Given the description of an element on the screen output the (x, y) to click on. 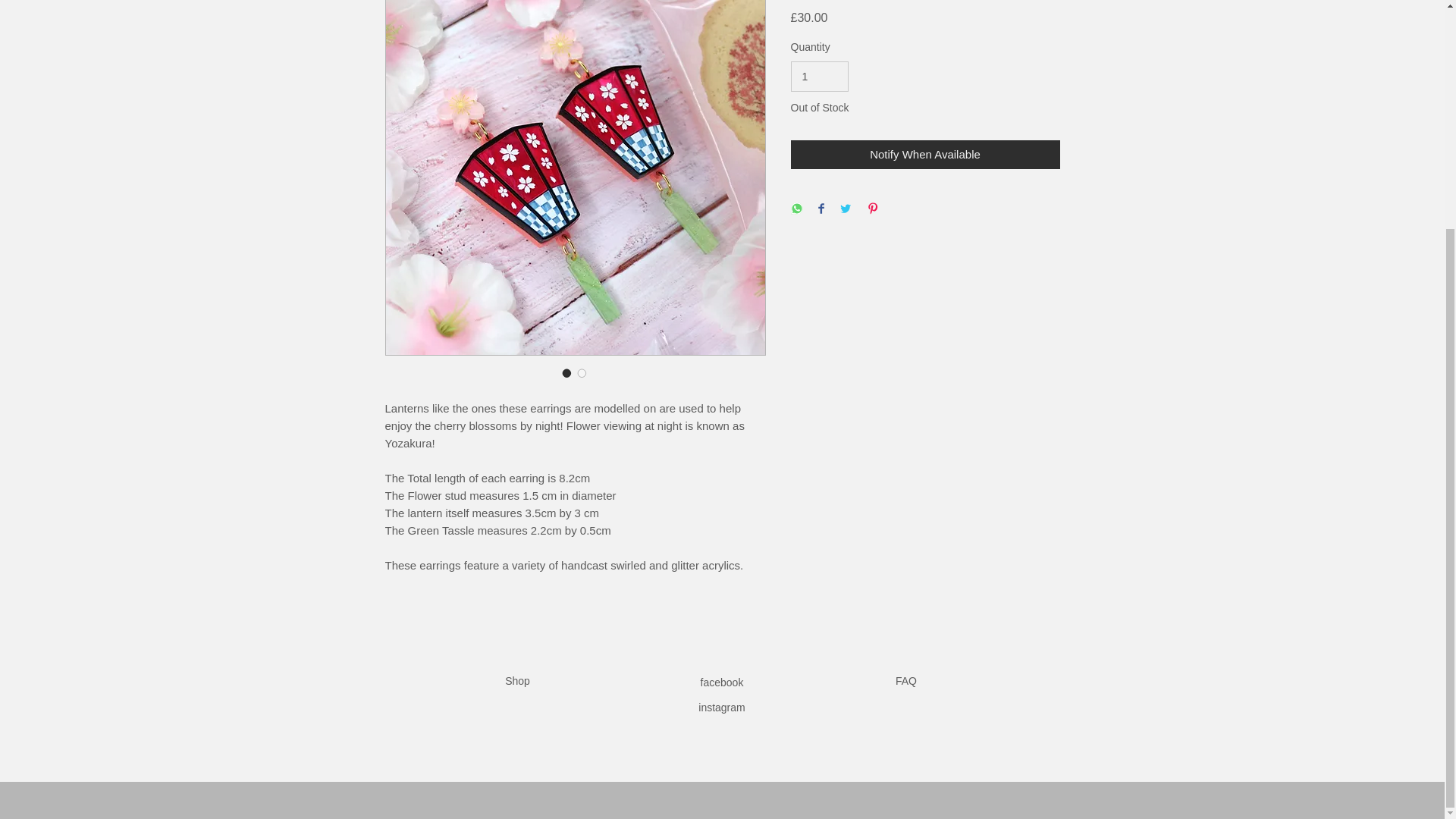
FAQ (906, 680)
facebook (722, 682)
1 (818, 76)
Shop (517, 680)
Notify When Available (924, 154)
instagram (721, 707)
